Given the description of an element on the screen output the (x, y) to click on. 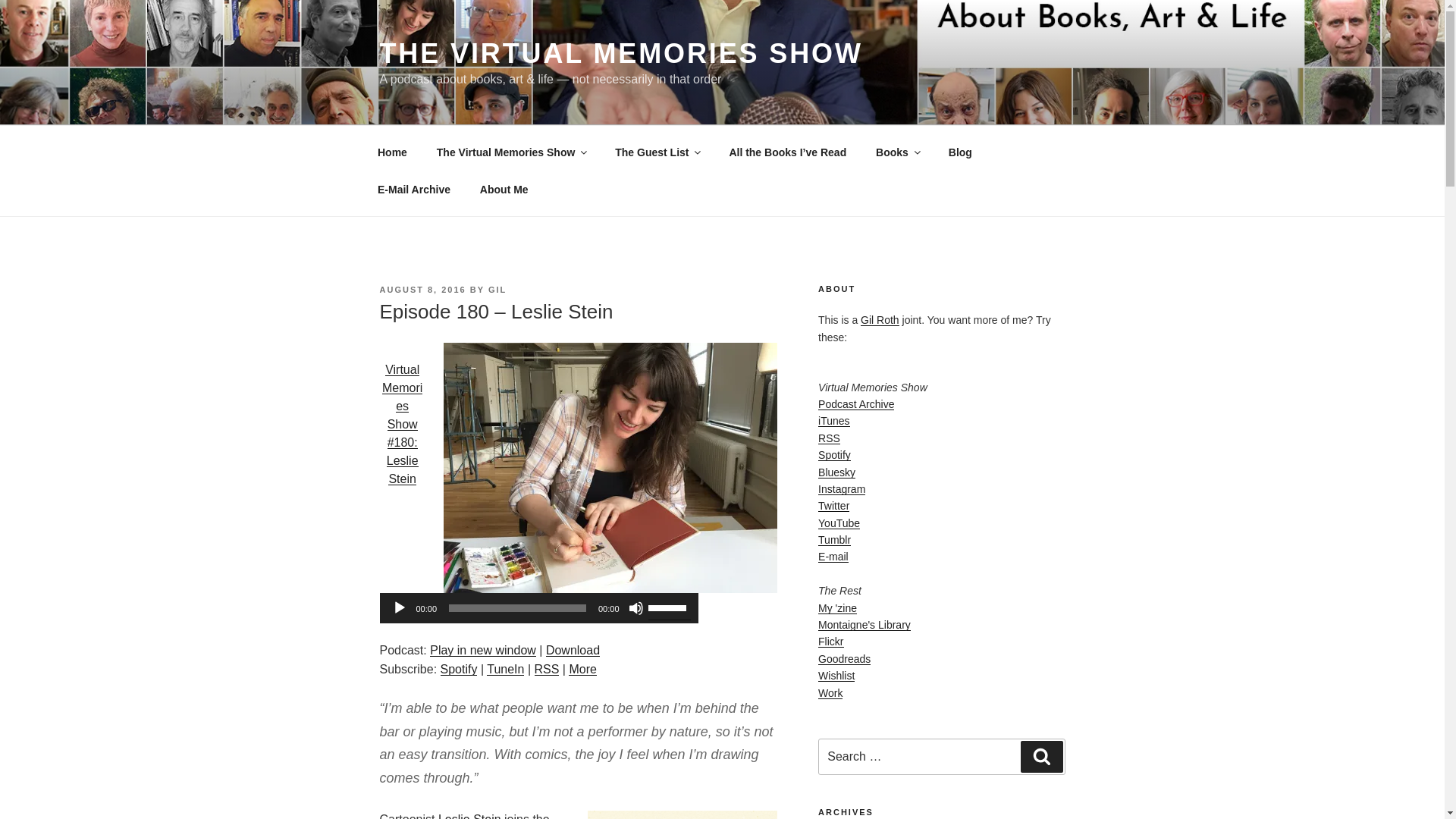
The Virtual Memories Show (510, 151)
The Guest List (657, 151)
Download (572, 649)
Subscribe on Spotify (459, 668)
Home (392, 151)
THE VIRTUAL MEMORIES SHOW (619, 52)
Play in new window (482, 649)
About Me (503, 189)
Mute (635, 607)
E-Mail Archive (413, 189)
Subscribe on TuneIn (505, 668)
More (582, 668)
Subscribe via RSS (546, 668)
Play (398, 607)
Books (898, 151)
